Given the description of an element on the screen output the (x, y) to click on. 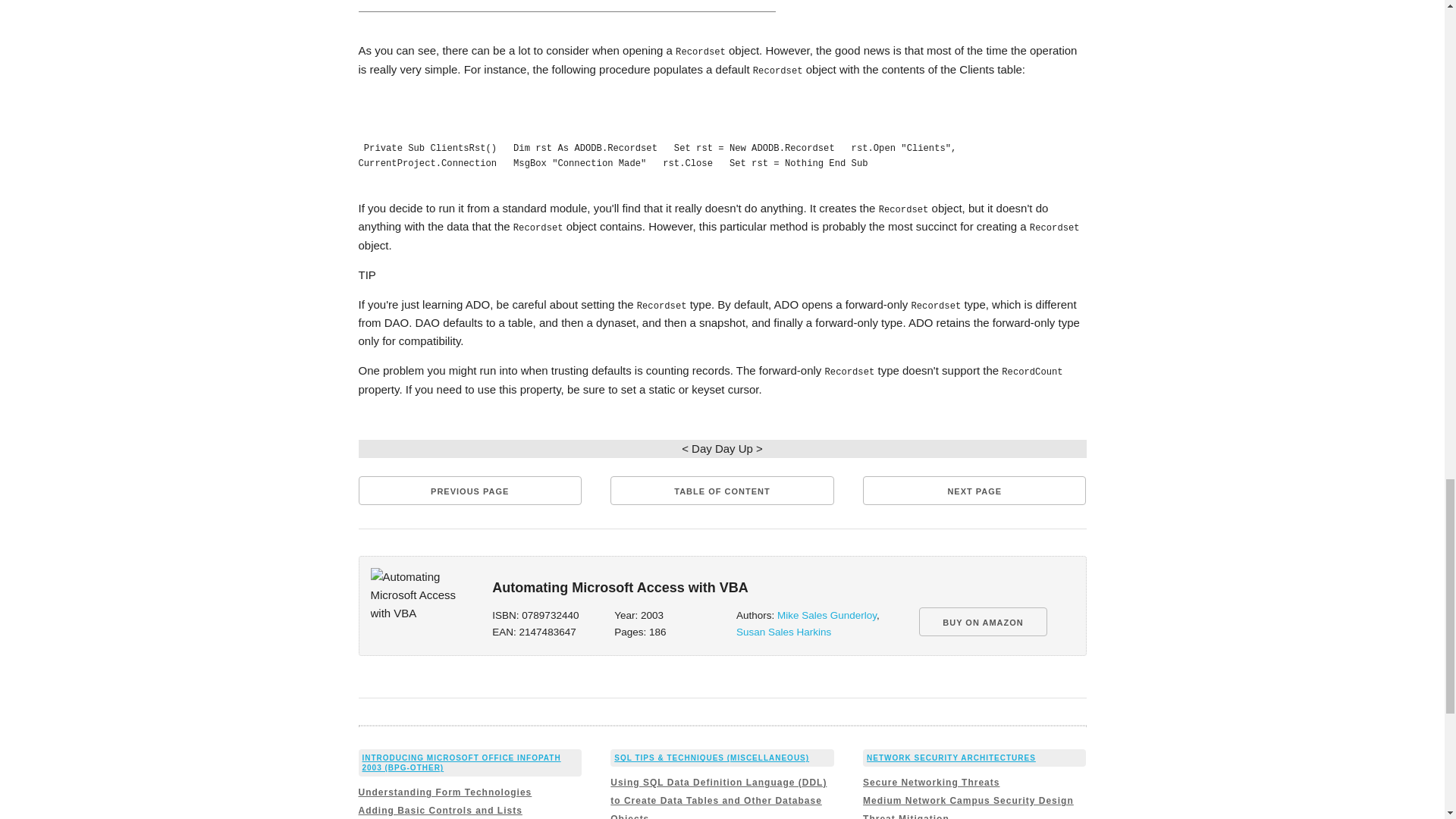
PREVIOUS PAGE (469, 490)
Threat Mitigation (906, 816)
Understanding Form Technologies (444, 792)
Secure Networking Threats (930, 782)
Mike Sales Gunderloy (826, 614)
Adding Basic Controls and Lists (439, 810)
TABLE OF CONTENT (721, 490)
Susan Sales Harkins (783, 632)
Automating Microsoft Access with VBA (416, 595)
NEXT PAGE (974, 490)
